Given the description of an element on the screen output the (x, y) to click on. 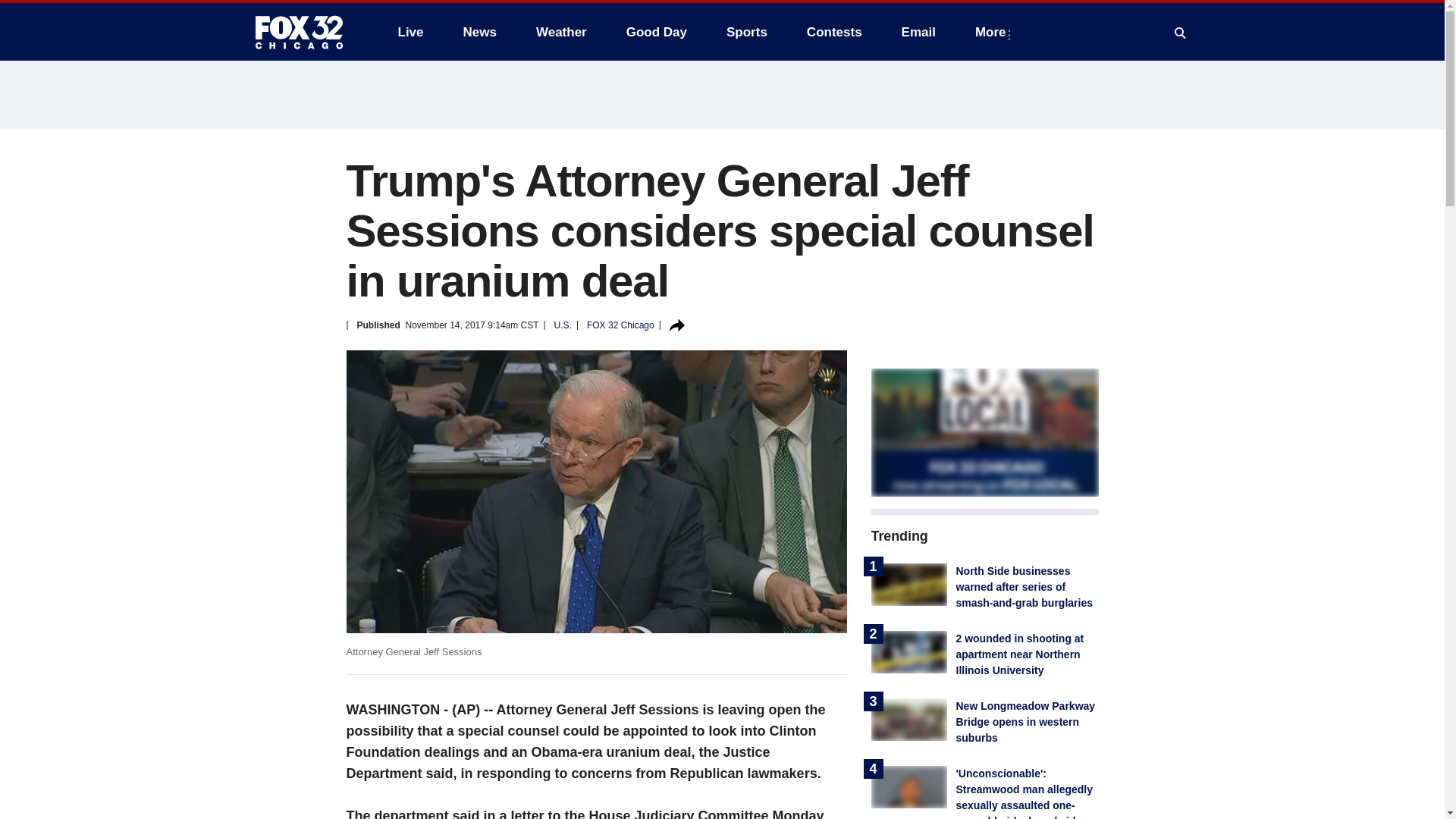
News (479, 32)
More (993, 32)
Good Day (656, 32)
Weather (561, 32)
Email (918, 32)
Contests (834, 32)
Sports (746, 32)
Live (410, 32)
